Given the description of an element on the screen output the (x, y) to click on. 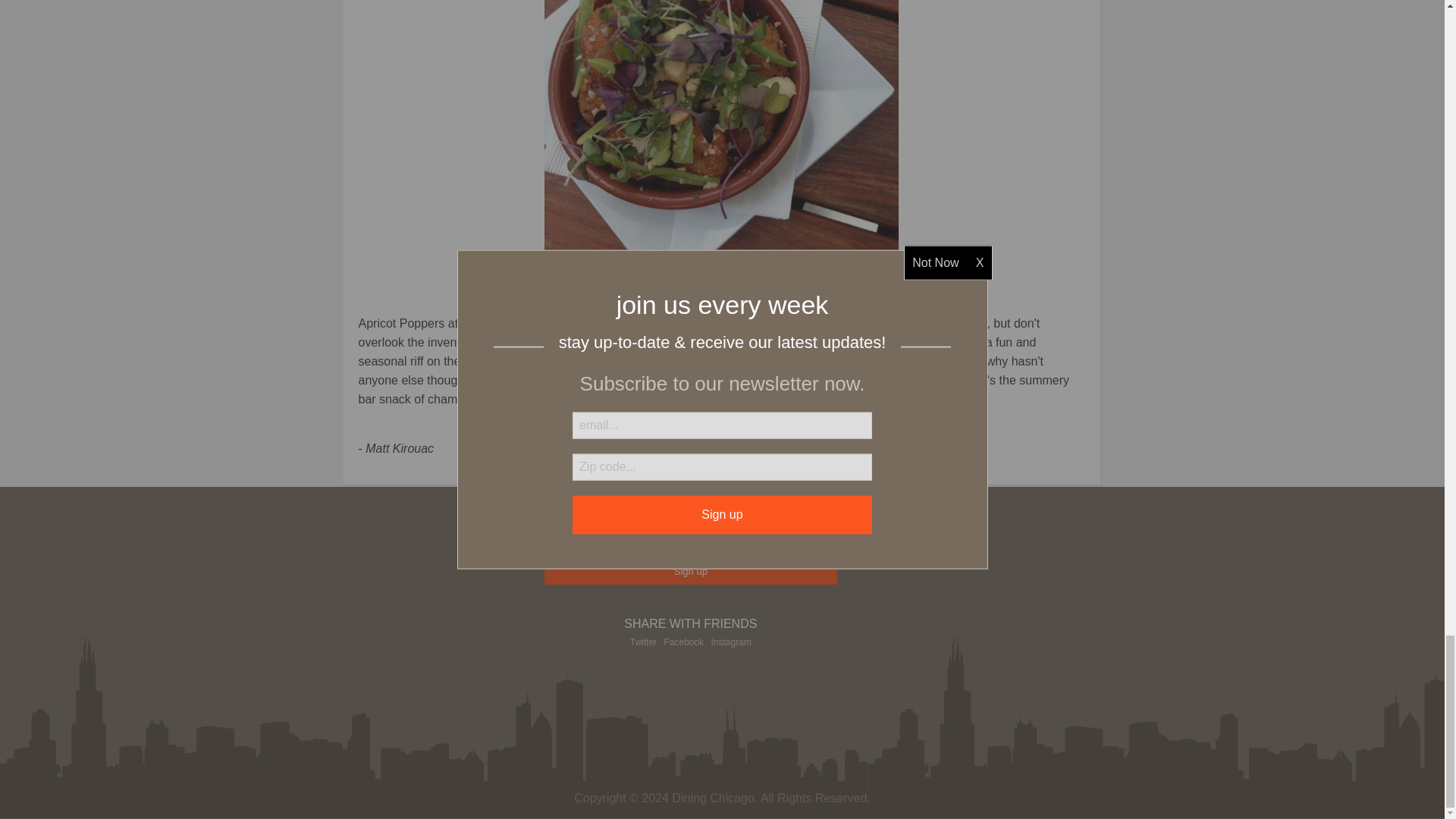
ROOF (478, 323)
Twitter (643, 642)
ROOF (721, 132)
Sign up (691, 570)
Instagram (731, 642)
Facebook (683, 642)
